Given the description of an element on the screen output the (x, y) to click on. 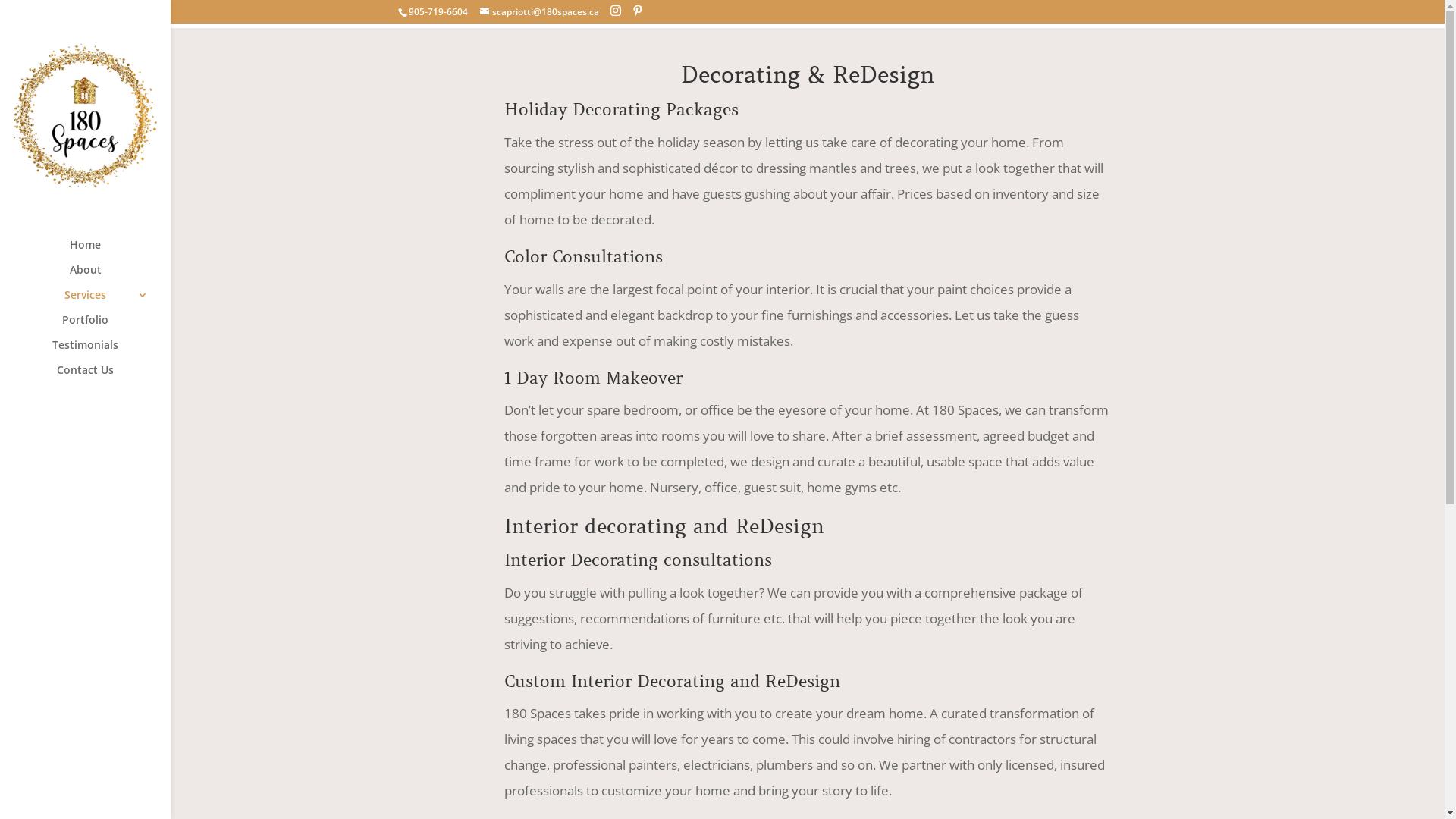
Portfolio Element type: text (100, 326)
Testimonials Element type: text (100, 351)
Contact Us Element type: text (100, 376)
About Element type: text (100, 276)
Services Element type: text (100, 301)
scapriotti@180spaces.ca Element type: text (539, 11)
Home Element type: text (100, 251)
